Given the description of an element on the screen output the (x, y) to click on. 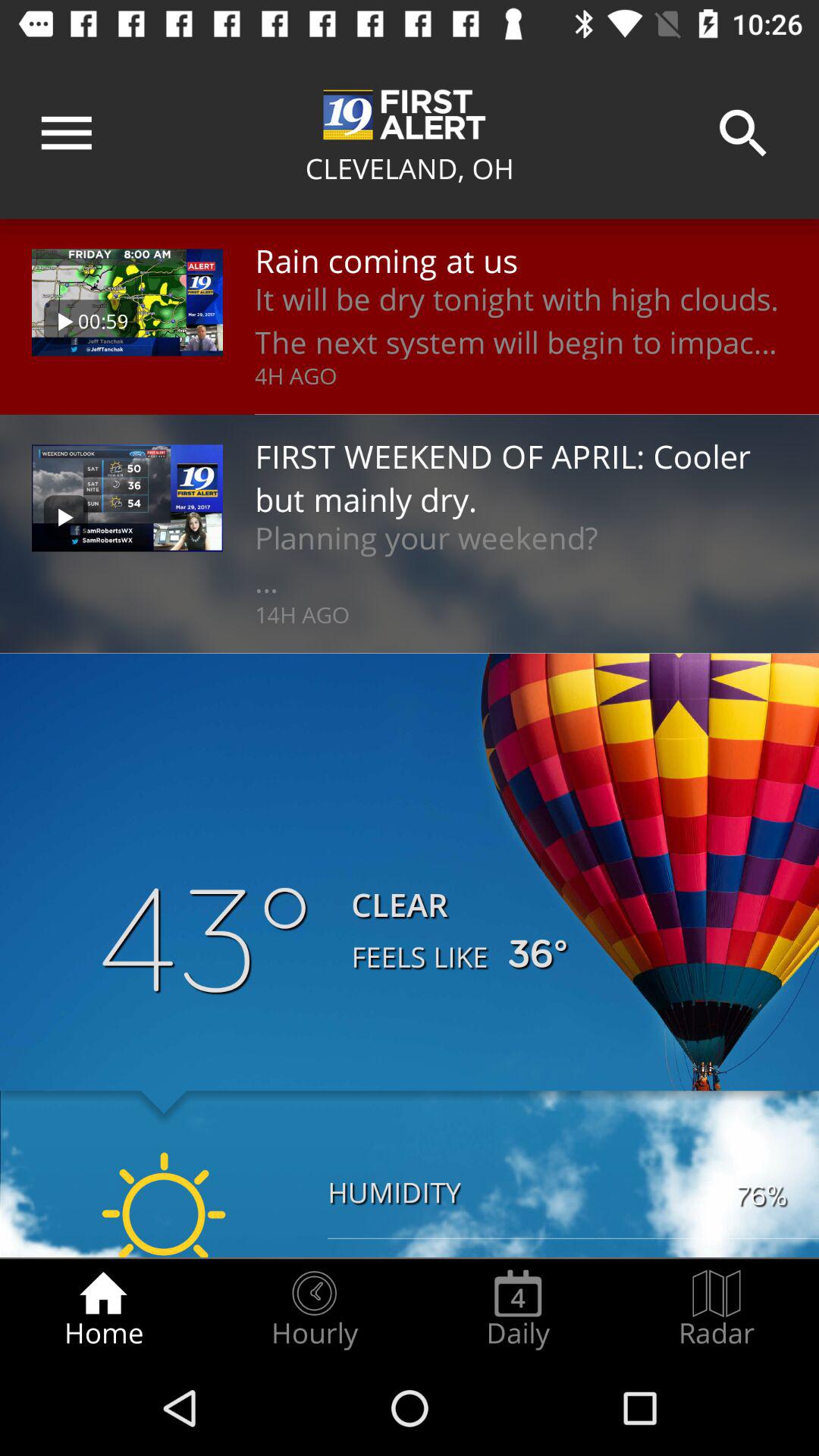
choose the icon next to daily (716, 1309)
